Given the description of an element on the screen output the (x, y) to click on. 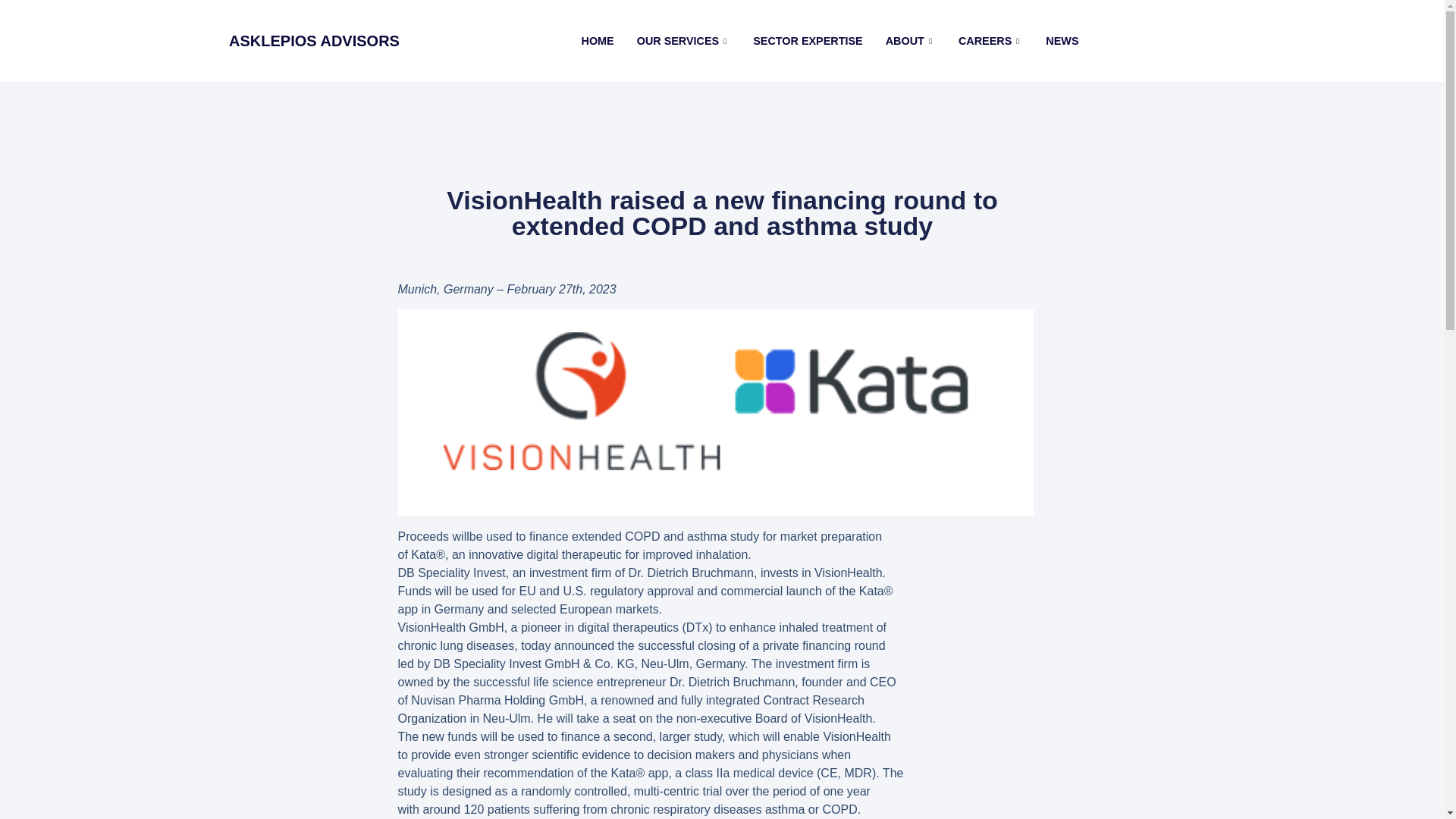
OUR SERVICES (684, 40)
ABOUT (911, 40)
CAREERS (990, 40)
HOME (598, 40)
SECTOR EXPERTISE (807, 40)
NEWS (1061, 40)
